Given the description of an element on the screen output the (x, y) to click on. 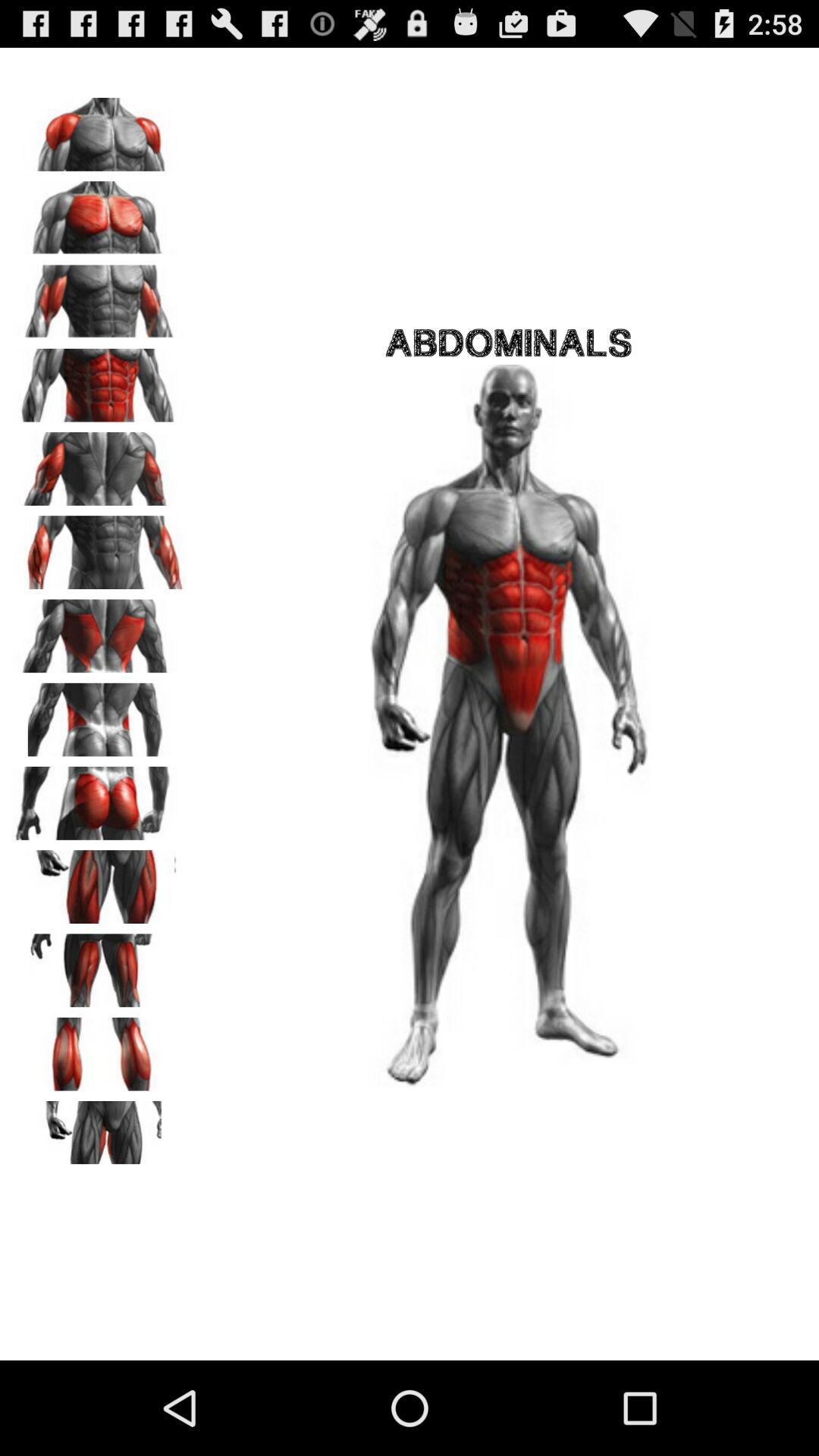
select groin muscles (99, 1132)
